Given the description of an element on the screen output the (x, y) to click on. 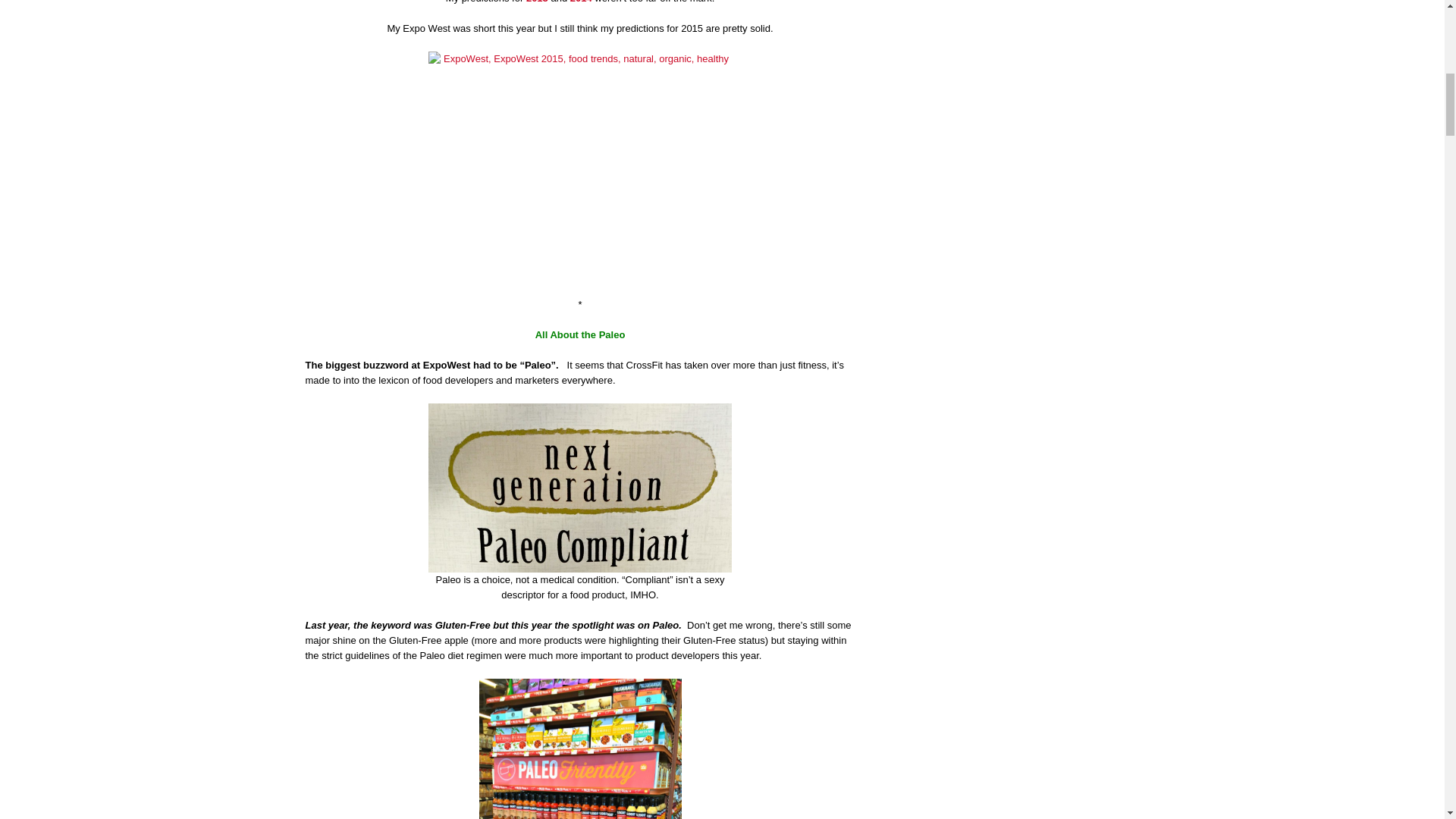
Expo West 2014 (581, 2)
Whole Foods, Paleo (580, 748)
2014 (581, 2)
2013 (536, 2)
Expo West 2013 (536, 2)
